Given the description of an element on the screen output the (x, y) to click on. 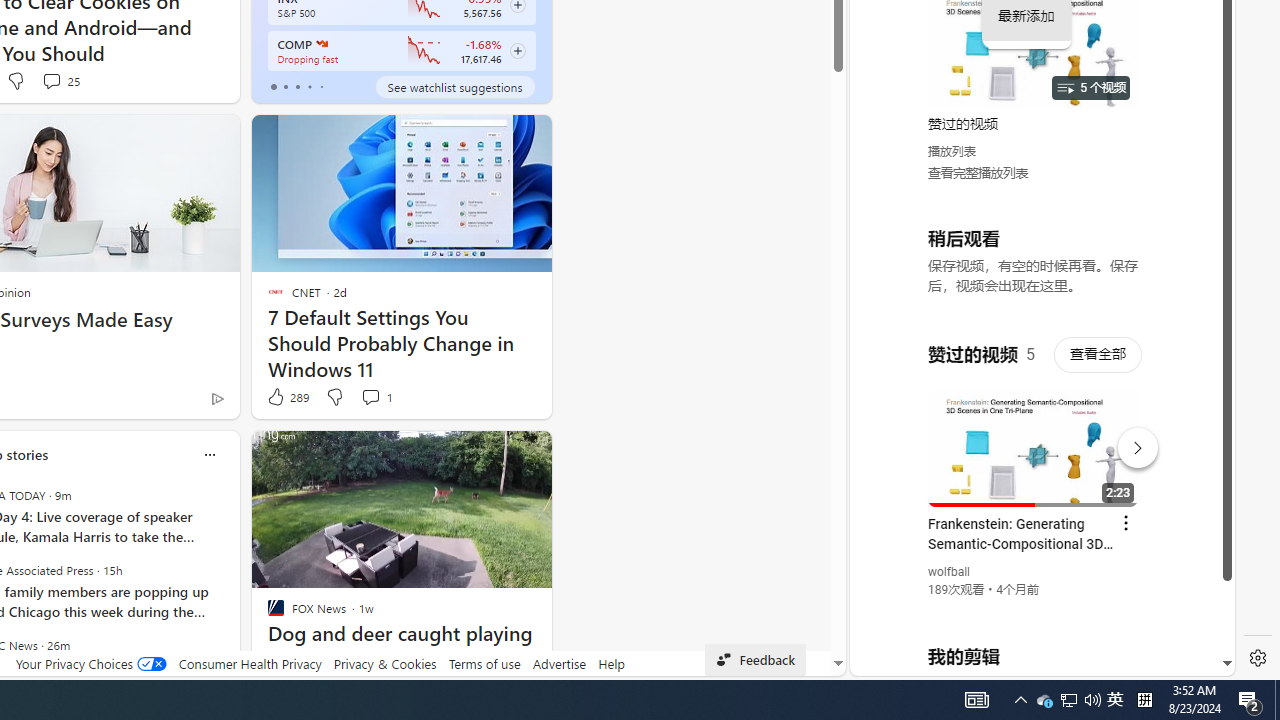
tab-1 (285, 86)
View comments 25 Comment (60, 80)
NASDAQ (320, 43)
